Given the description of an element on the screen output the (x, y) to click on. 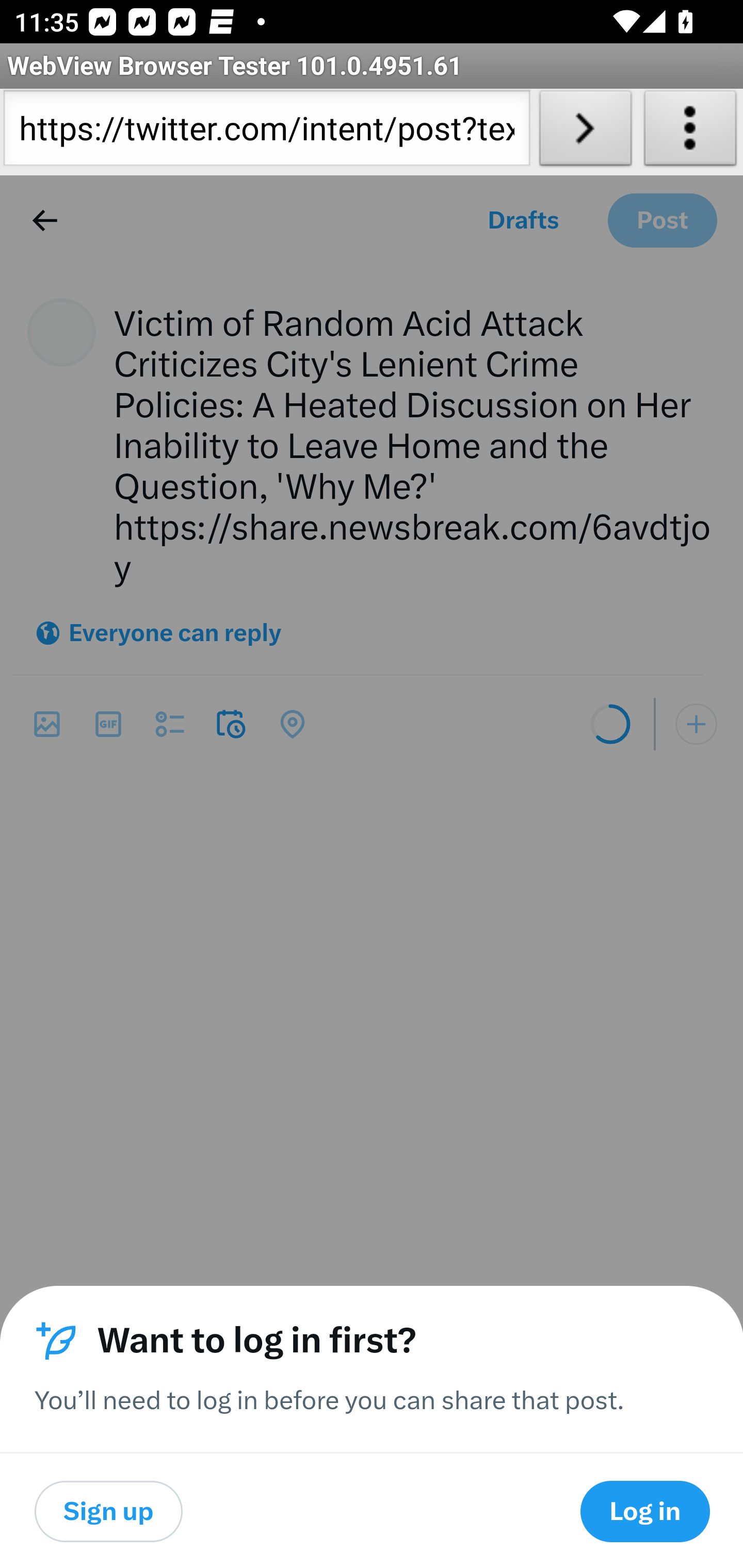
Load URL (585, 132)
About WebView (690, 132)
